Given the description of an element on the screen output the (x, y) to click on. 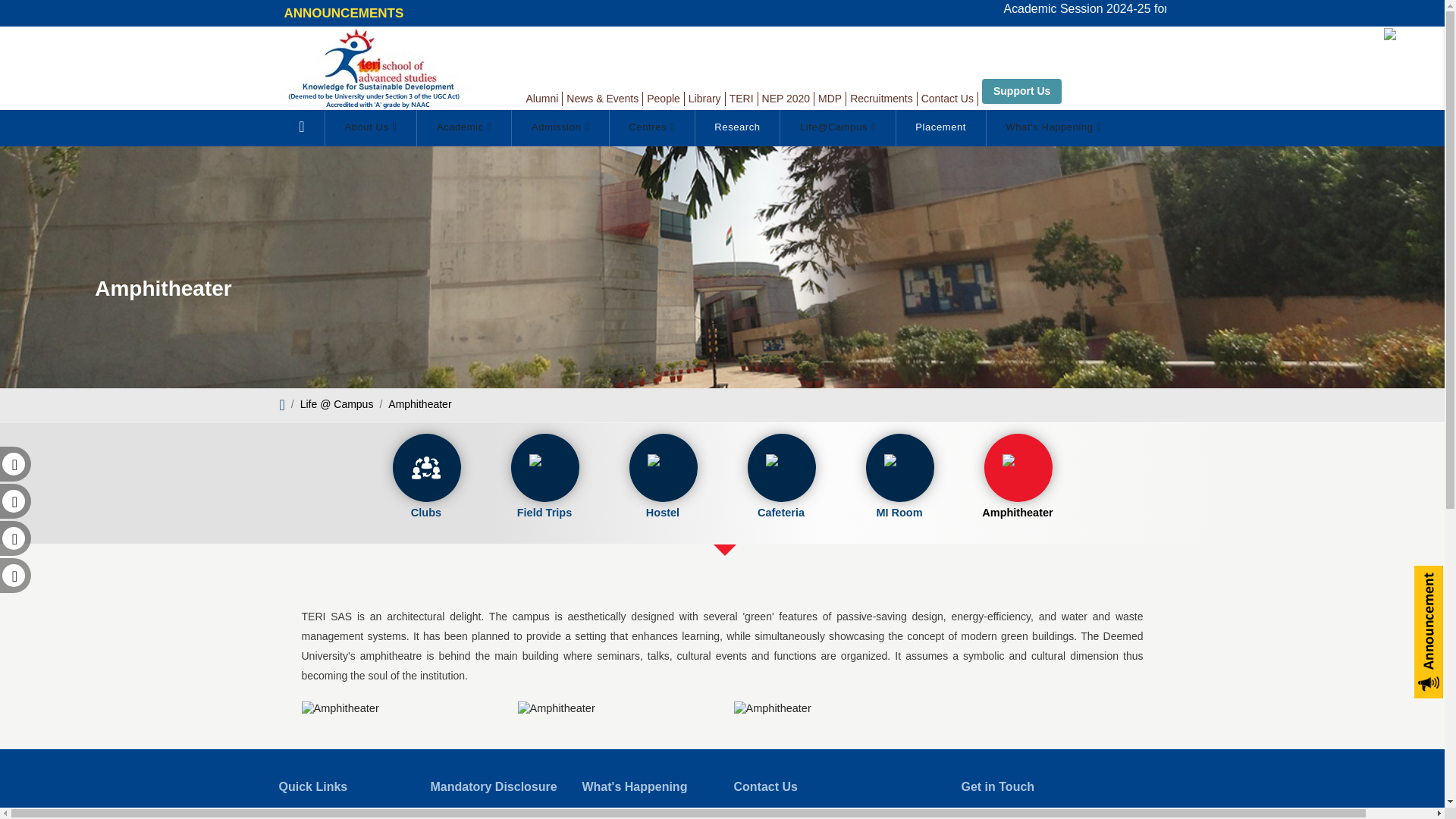
NEP 2020 (785, 98)
People (662, 98)
Recruitments (881, 98)
About Us (370, 126)
Instagram (12, 577)
Library (704, 98)
Alumni (542, 98)
Contact Us (947, 98)
Facebook (12, 466)
TERI (741, 98)
MDP (829, 98)
Support Us (1021, 91)
Youtube (12, 540)
Twitter (12, 503)
